Given the description of an element on the screen output the (x, y) to click on. 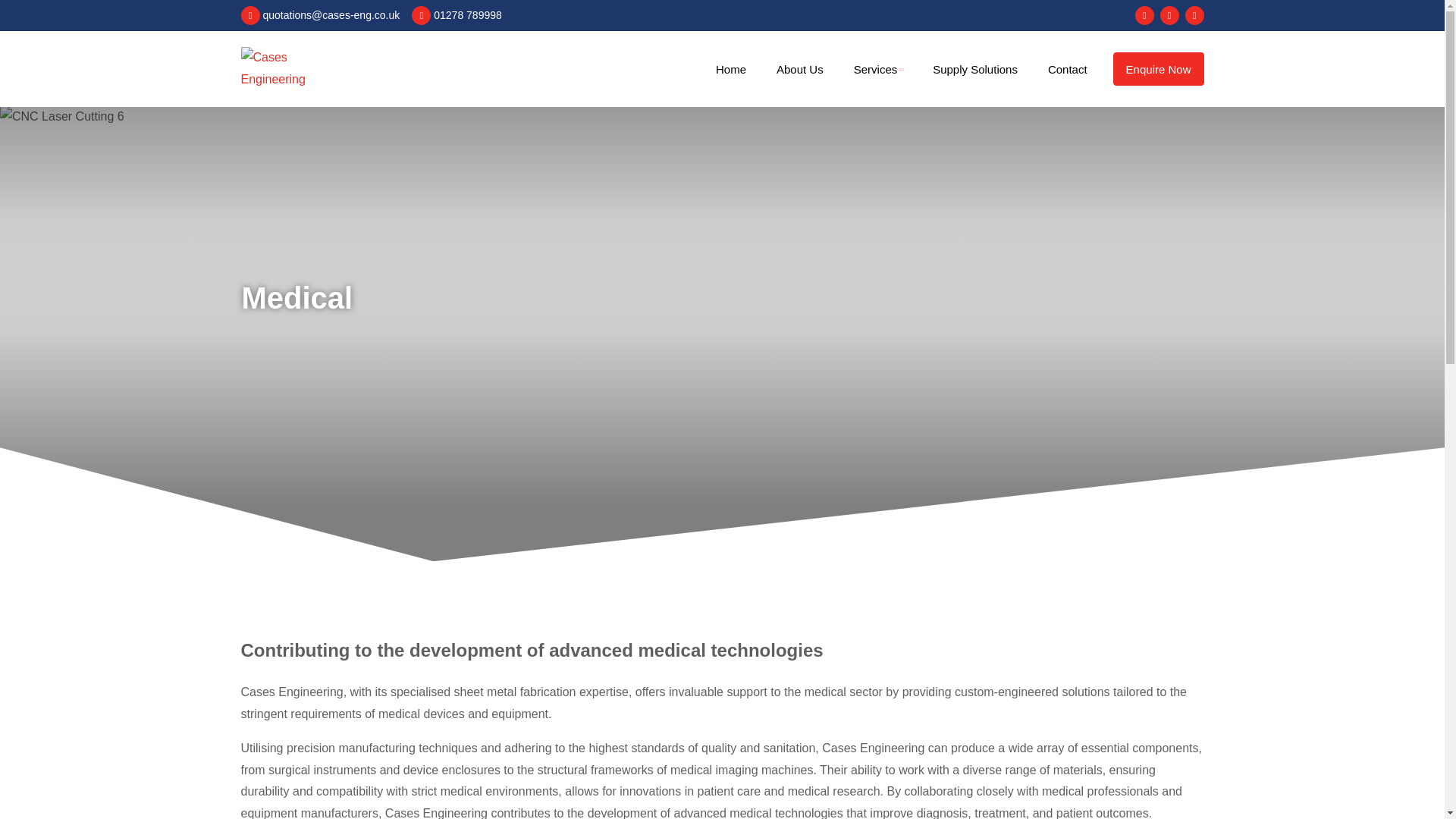
Home (730, 69)
Services (877, 68)
01278 789998 (457, 15)
Supply Solutions (974, 69)
About Us (799, 69)
Contact (1064, 69)
cases-engineering (292, 68)
Enquire Now (1158, 68)
